Given the description of an element on the screen output the (x, y) to click on. 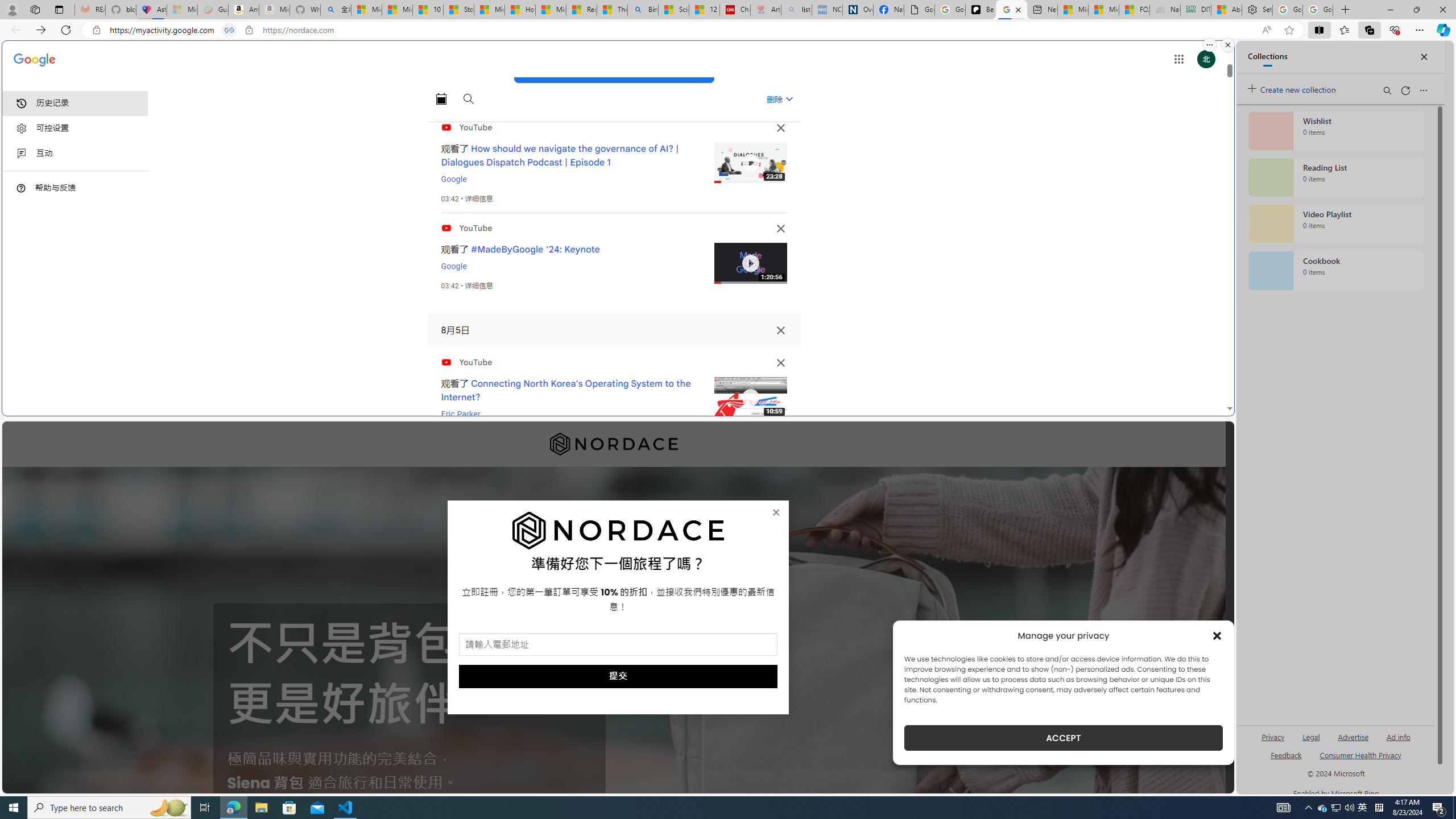
ACCEPT (1063, 737)
NCL Adult Asthma Inhaler Choice Guideline - Sleeping (826, 9)
12 Popular Science Lies that Must be Corrected (704, 9)
Google (454, 266)
